Given the description of an element on the screen output the (x, y) to click on. 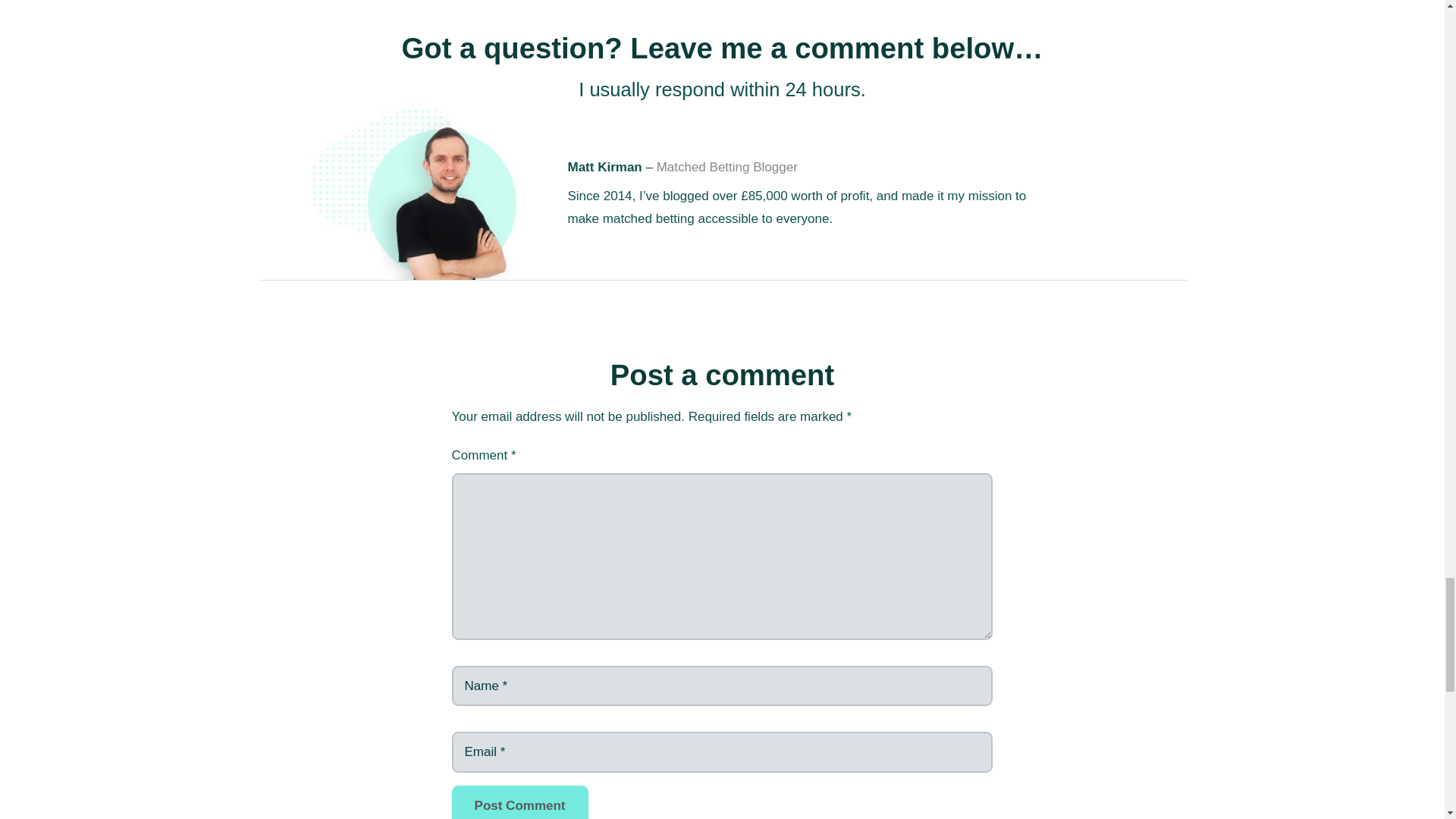
Post Comment (519, 802)
